Given the description of an element on the screen output the (x, y) to click on. 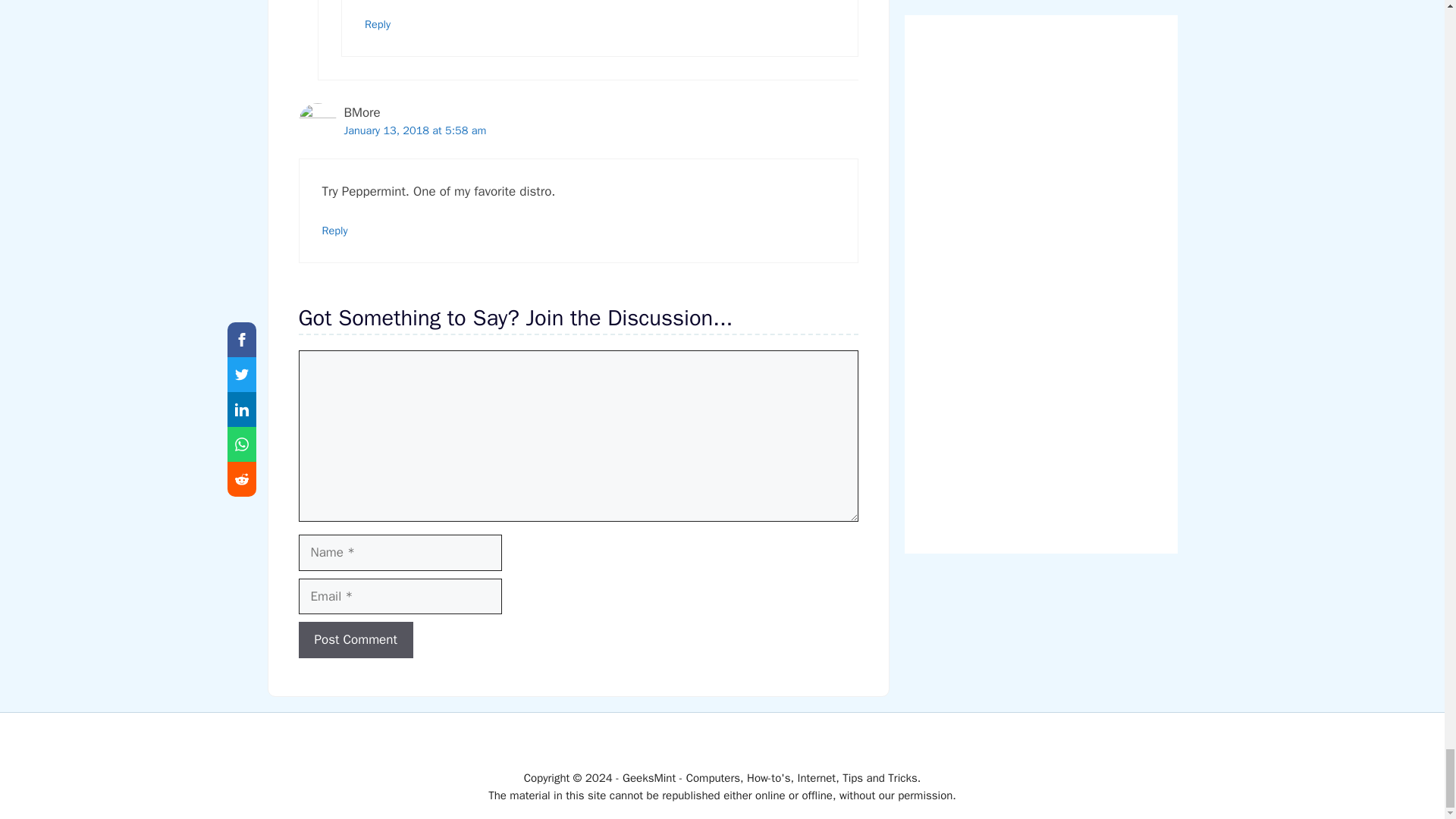
Post Comment (355, 639)
